Given the description of an element on the screen output the (x, y) to click on. 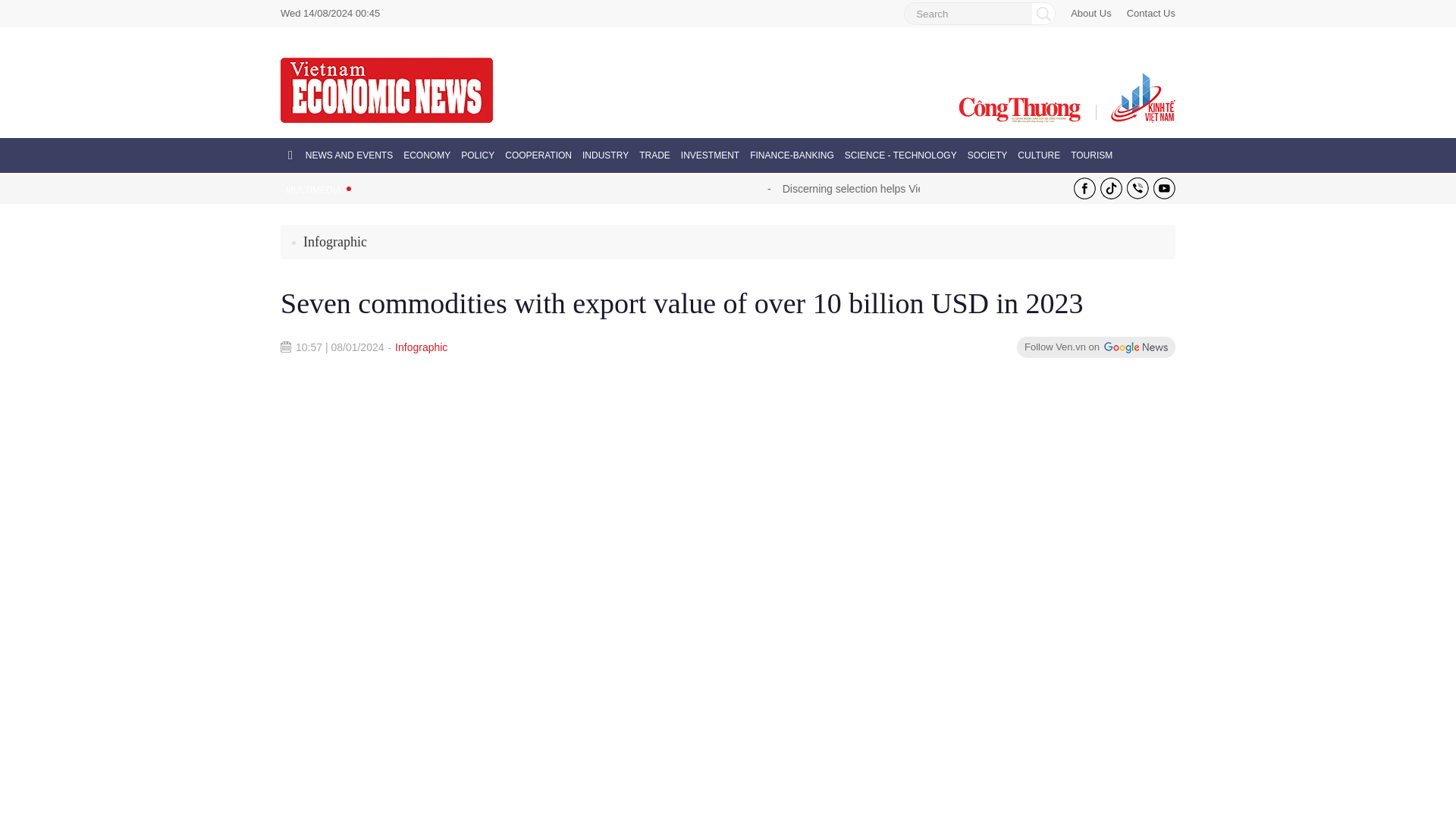
Contact Us (1150, 13)
TRADE (654, 154)
SCIENCE - TECHNOLOGY (900, 154)
CULTURE (1038, 154)
COOPERATION (538, 154)
FINANCE-BANKING (791, 154)
TOURISM (1091, 154)
SOCIETY (987, 154)
POLICY (478, 154)
INVESTMENT (710, 154)
